Given the description of an element on the screen output the (x, y) to click on. 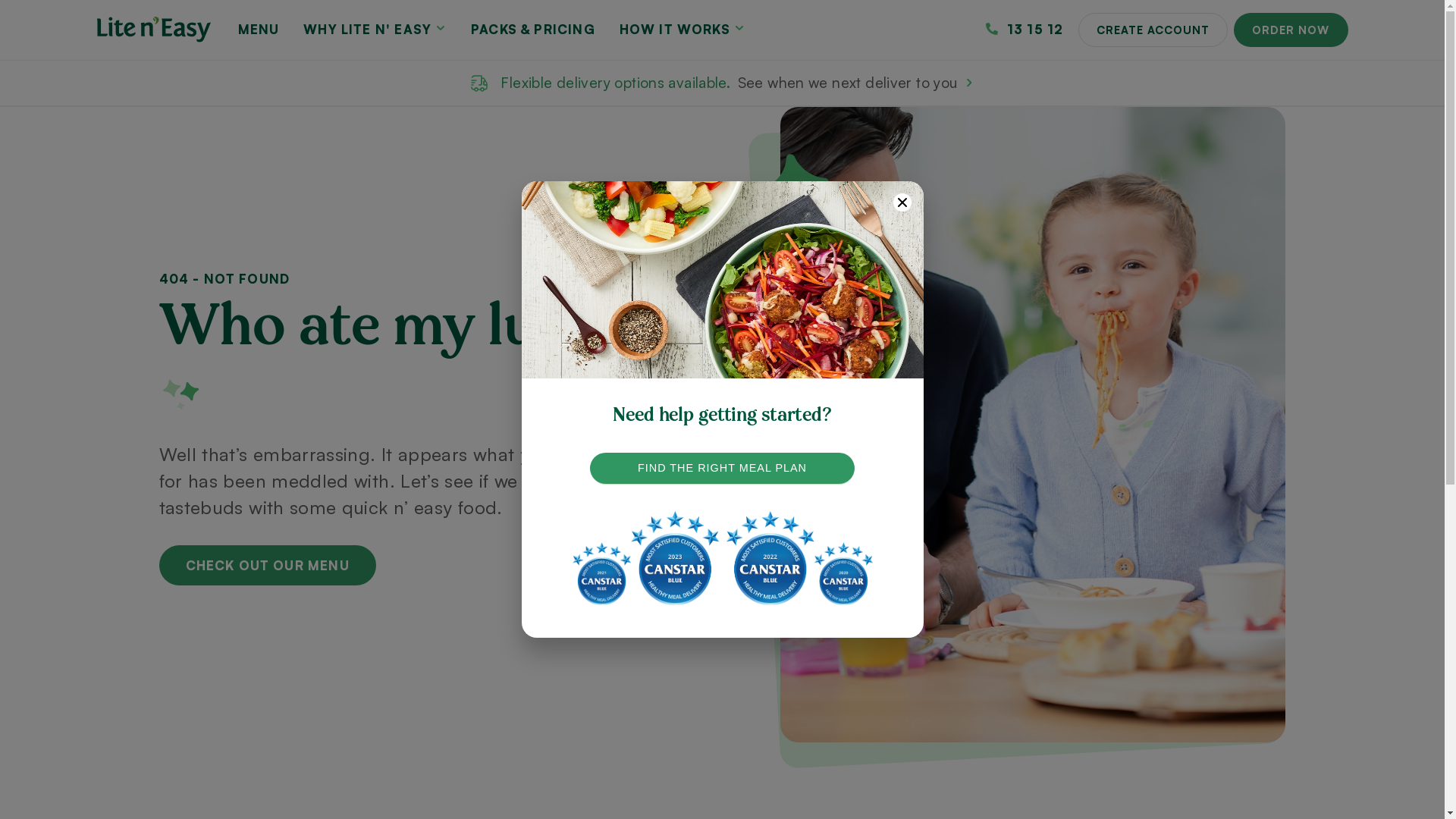
MENU Element type: text (258, 29)
CHECK OUT OUR MENU Element type: text (267, 565)
CREATE ACCOUNT Element type: text (1152, 29)
FIND THE RIGHT MEAL PLAN Element type: text (722, 468)
WHY LITE N' EASY Element type: text (374, 29)
PACKS & PRICING Element type: text (532, 29)
ORDER NOW Element type: text (1290, 29)
13 15 12 Element type: text (1024, 28)
HOW IT WORKS Element type: text (682, 29)
